Given the description of an element on the screen output the (x, y) to click on. 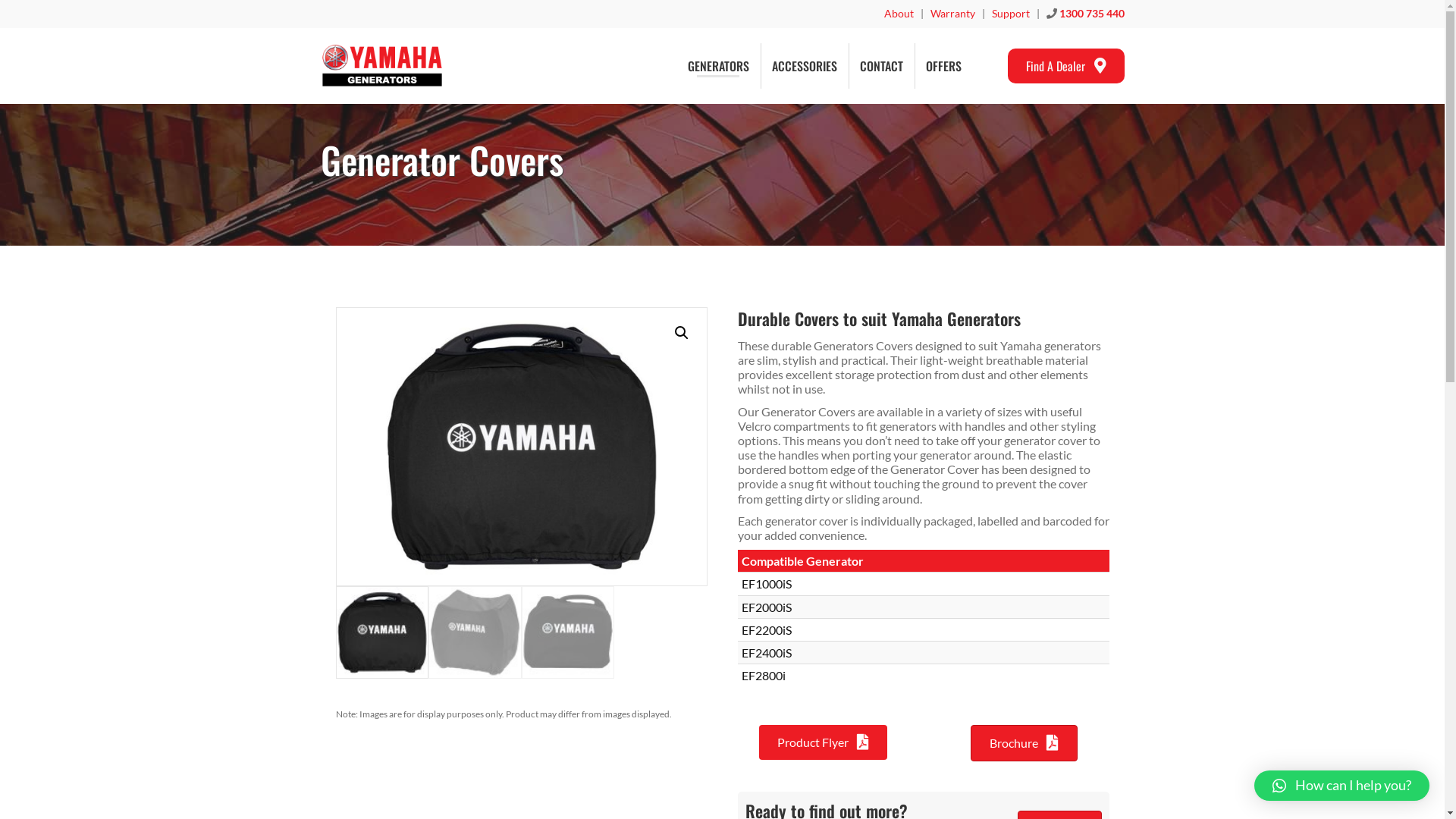
How can I help you? Element type: text (1341, 785)
Brochure Element type: text (1023, 742)
Support Element type: text (1010, 12)
1300 735 440 Element type: text (1090, 12)
Yamaha Generators 450px Element type: hover (381, 65)
About Element type: text (898, 12)
Product Flyer Element type: text (822, 741)
Find A Dealer Element type: text (1065, 65)
GENERATORS Element type: text (718, 65)
OFFERS Element type: text (943, 65)
ACCESSORIES Element type: text (803, 65)
Warranty Element type: text (951, 12)
ACC GNCVR 20 BK A Element type: hover (520, 446)
CONTACT Element type: text (880, 65)
